Given the description of an element on the screen output the (x, y) to click on. 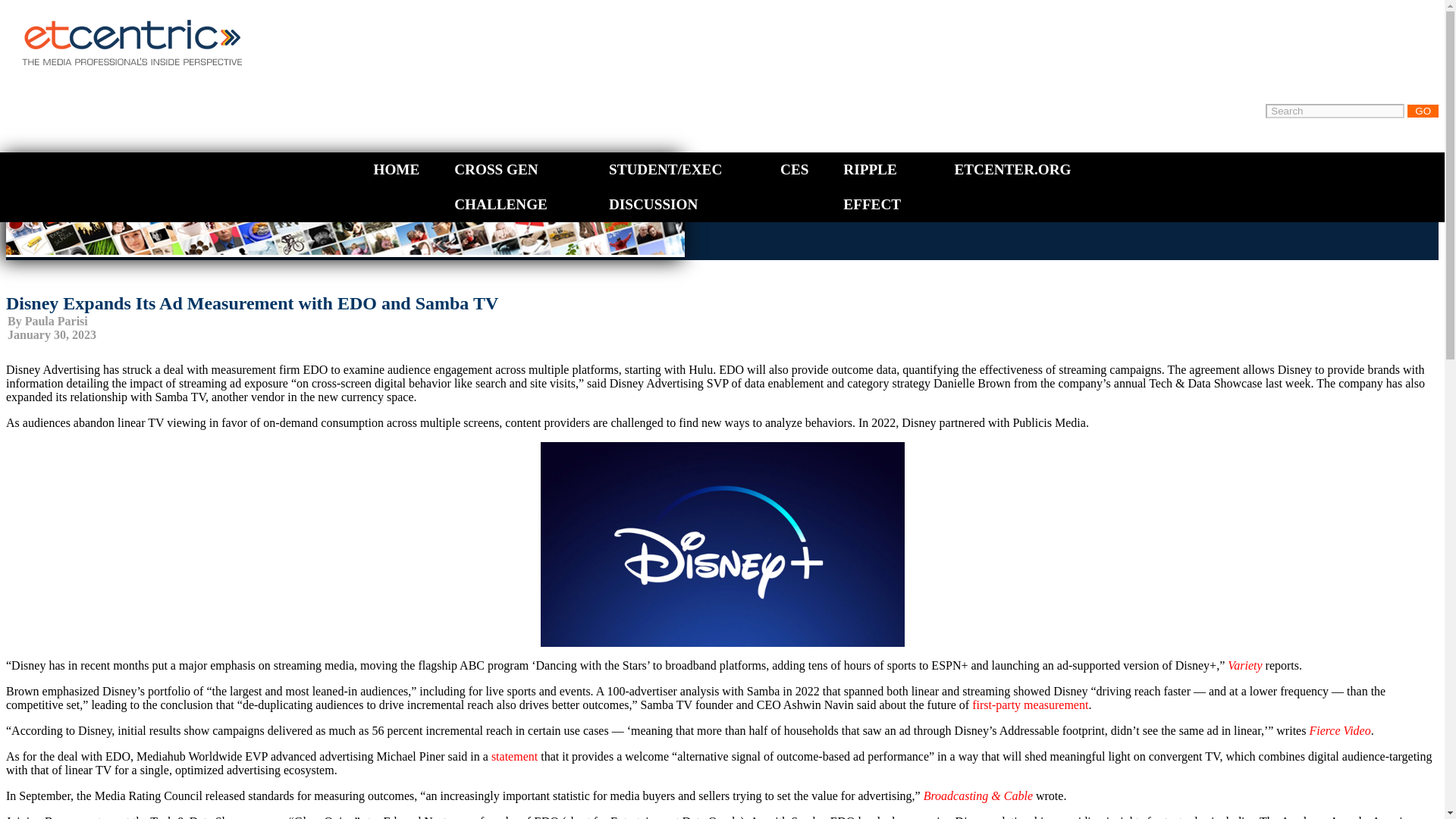
Posts by Paula Parisi (55, 320)
CES (794, 169)
CROSS GEN CHALLENGE (500, 186)
Search (1335, 110)
statement (514, 756)
RIPPLE EFFECT (872, 186)
Variety (1244, 665)
Paula Parisi (55, 320)
Fierce Video (1339, 730)
